Given the description of an element on the screen output the (x, y) to click on. 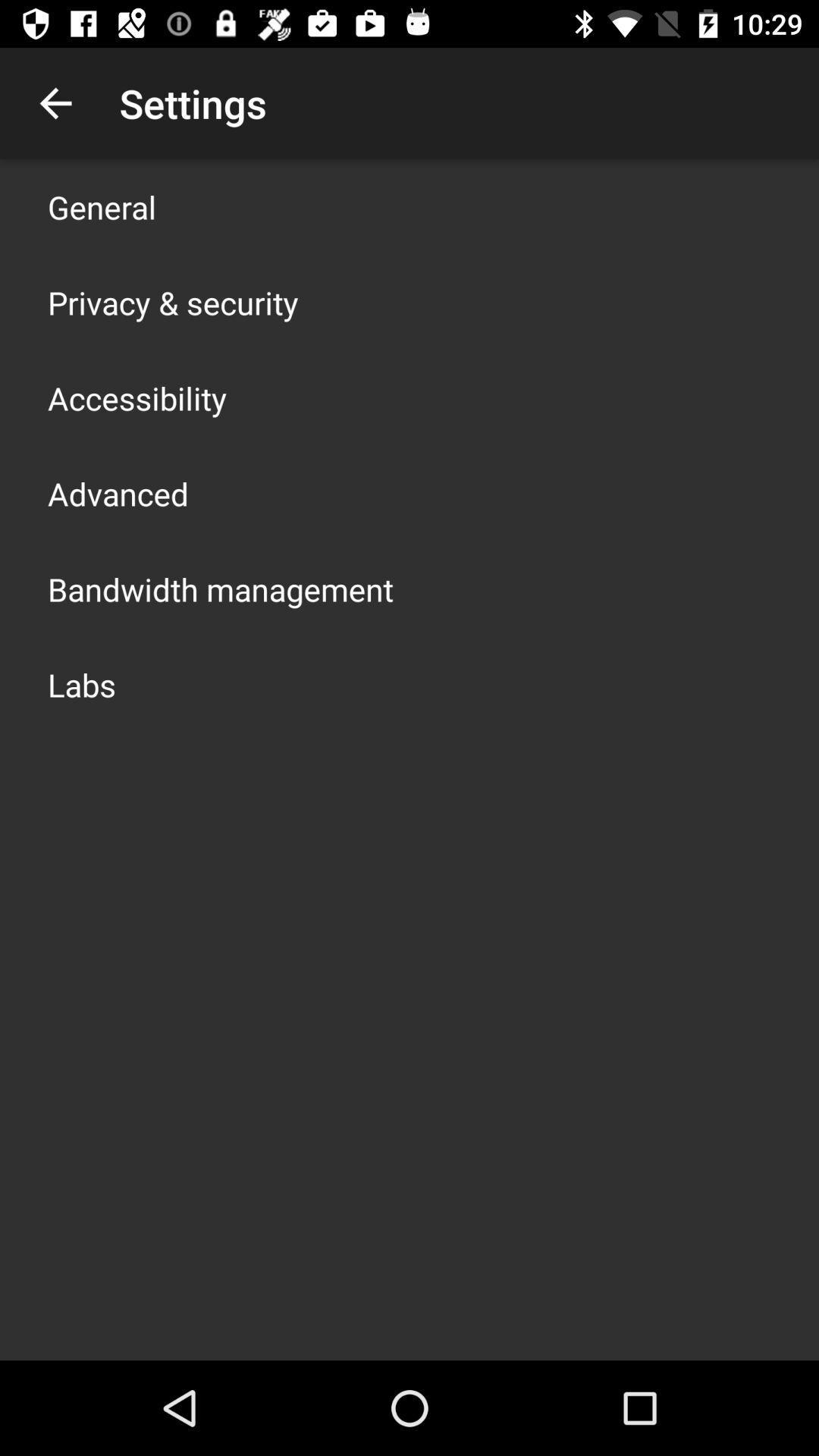
press the privacy & security (172, 302)
